Given the description of an element on the screen output the (x, y) to click on. 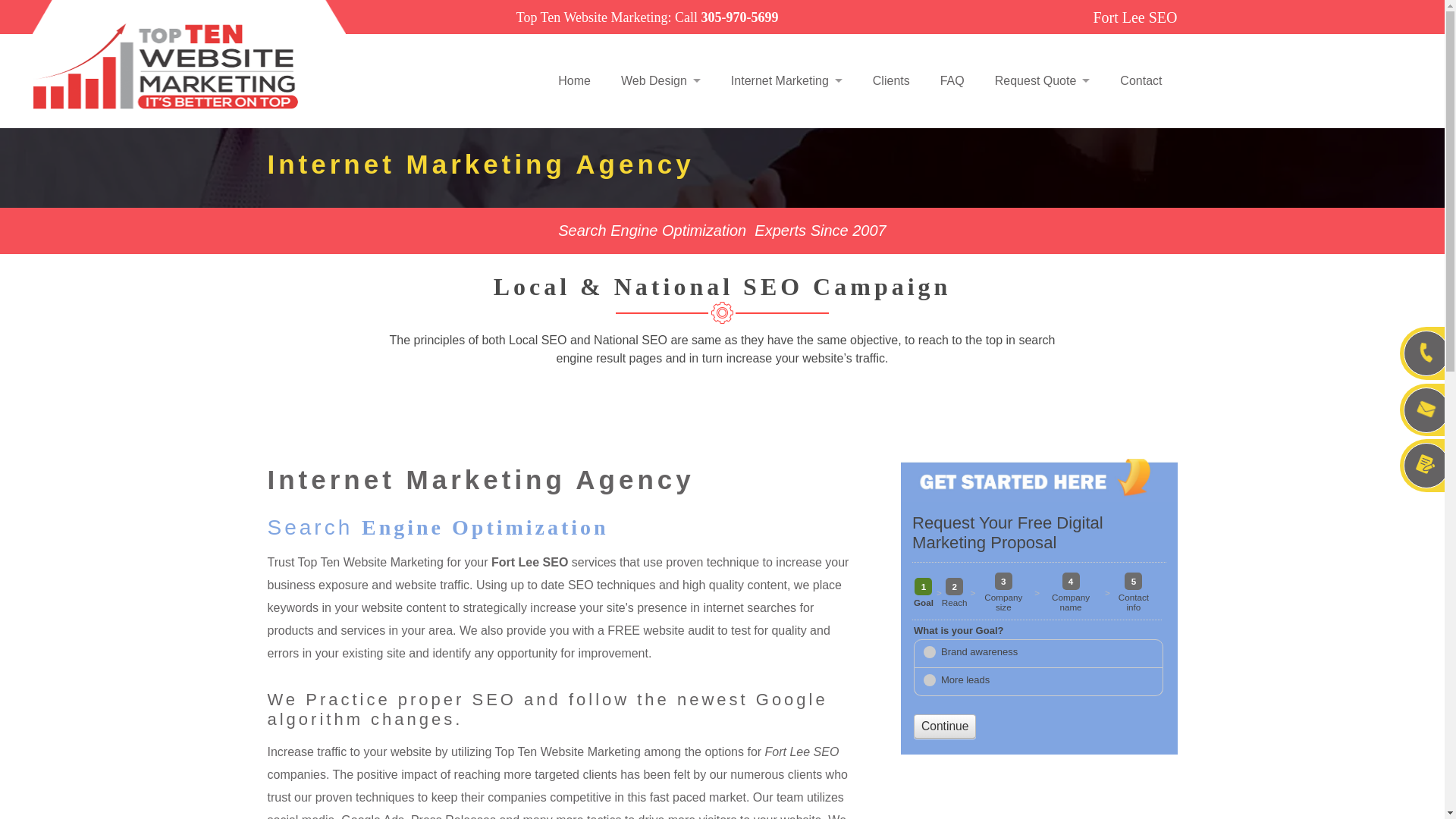
Request Your Free Digital Marketing Proposal (1039, 626)
Web Design (660, 81)
Home (574, 81)
Request Quote (1042, 81)
305-970-5699 (738, 17)
Contact (1140, 81)
Clients (891, 81)
Internet Marketing (786, 81)
